Given the description of an element on the screen output the (x, y) to click on. 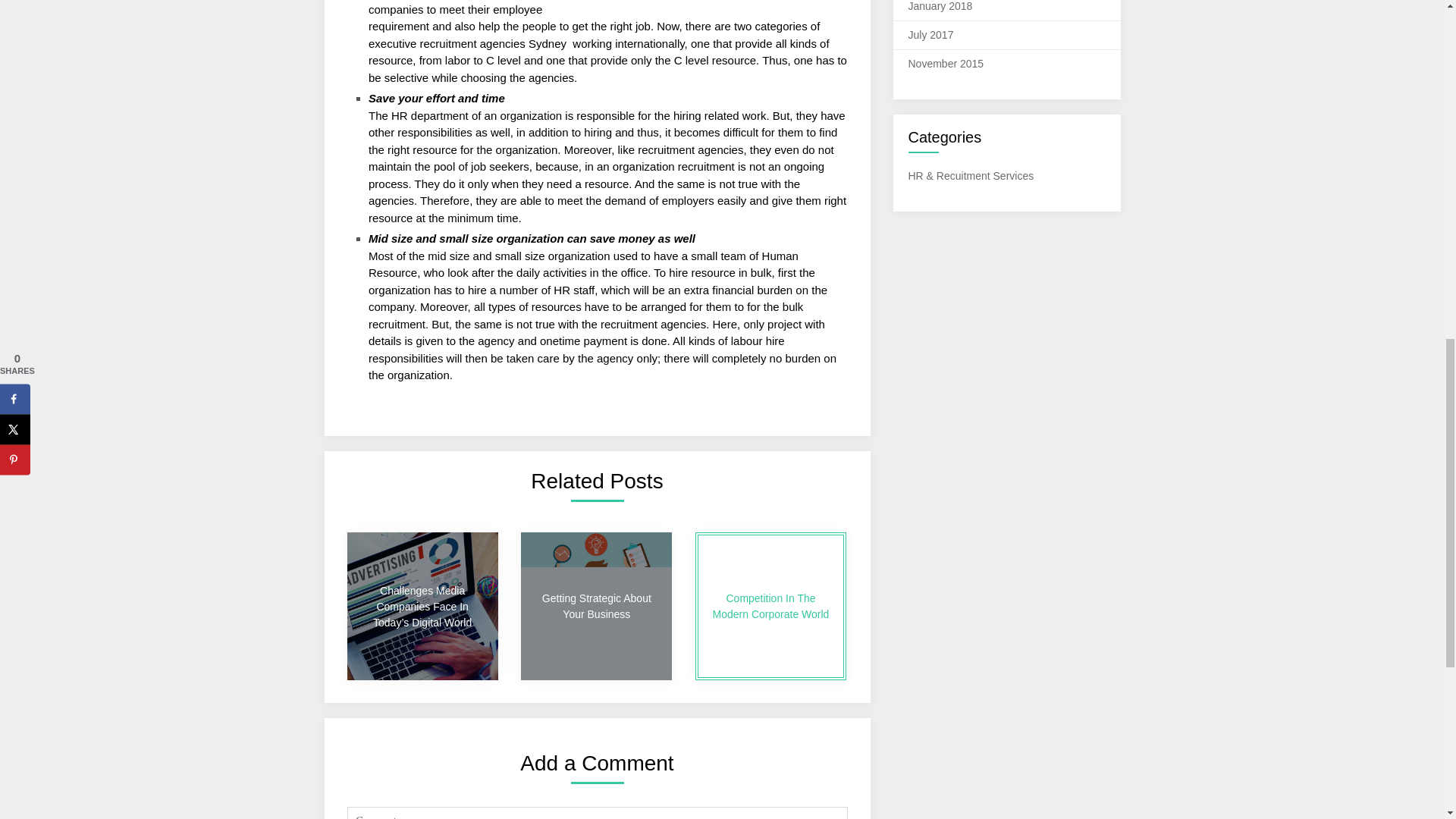
Competition In The Modern Corporate World (770, 606)
November 2015 (946, 63)
Competition In The Modern Corporate World (770, 606)
January 2018 (940, 6)
July 2017 (930, 34)
